Given the description of an element on the screen output the (x, y) to click on. 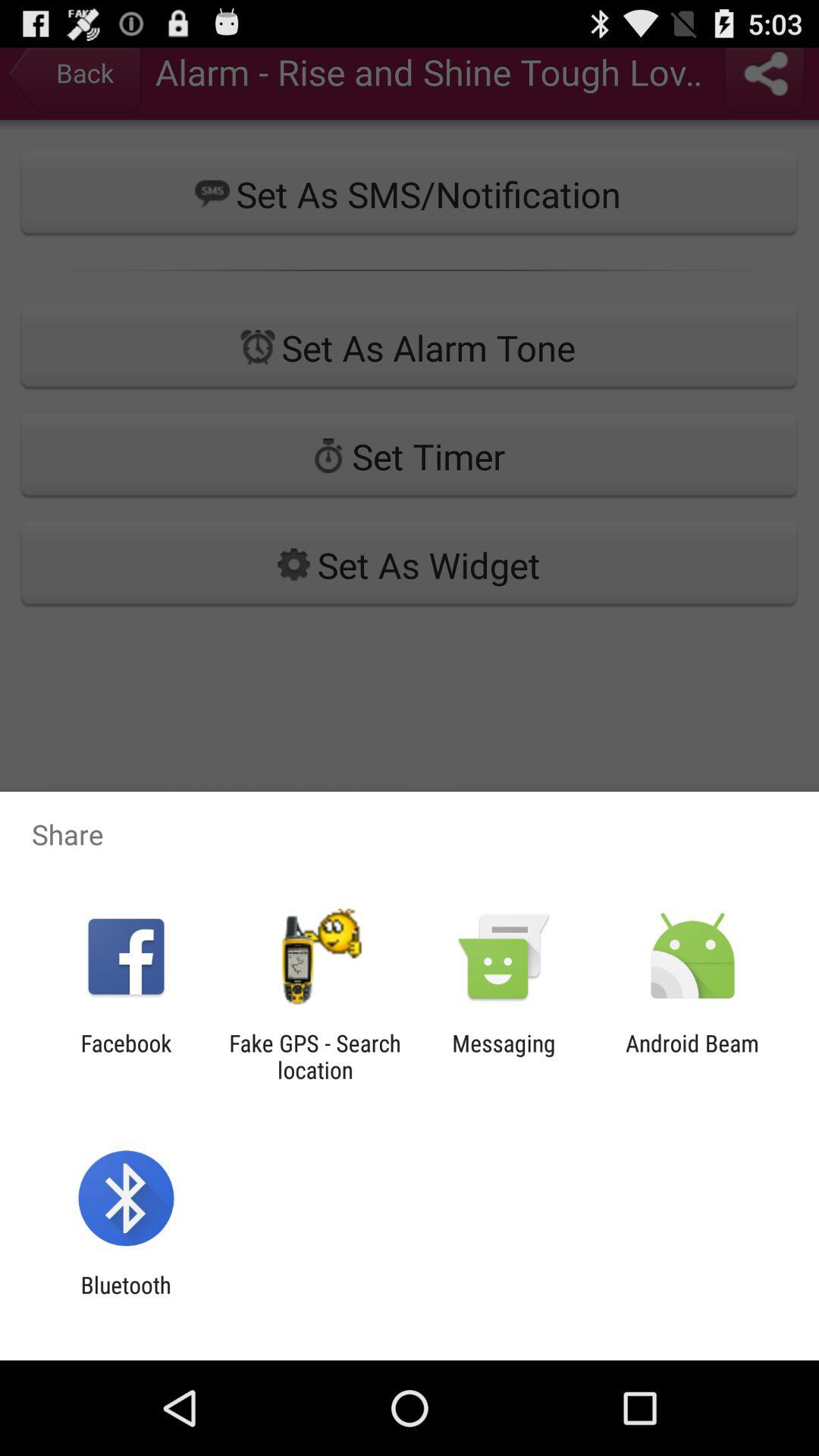
tap the facebook app (125, 1056)
